Given the description of an element on the screen output the (x, y) to click on. 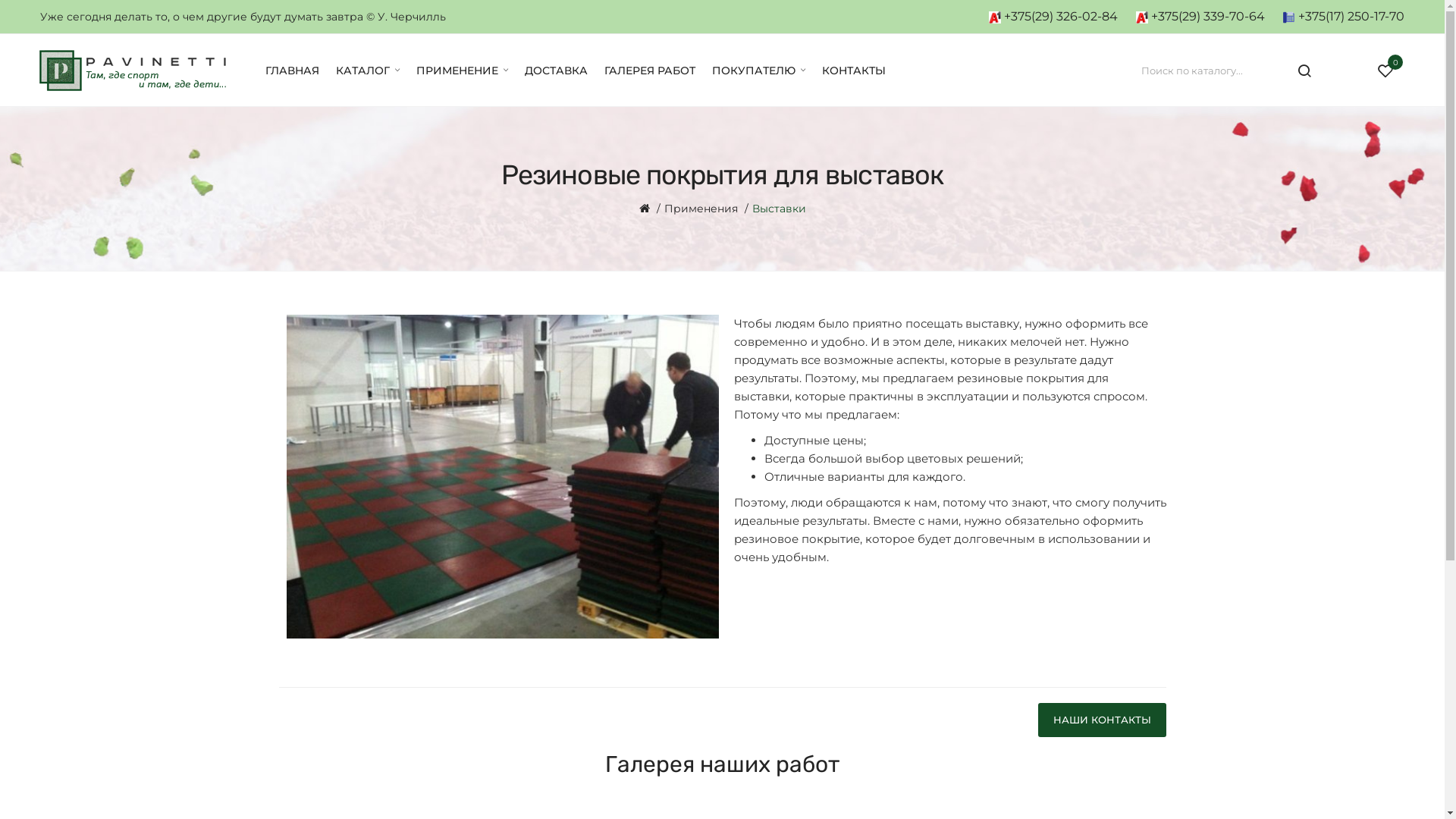
 +375(29) 339-70-64 Element type: text (1199, 16)
 +375(29) 326-02-84 Element type: text (1052, 16)
 +375(17) 250-17-70 Element type: text (1343, 16)
0 Element type: text (1385, 70)
